Given the description of an element on the screen output the (x, y) to click on. 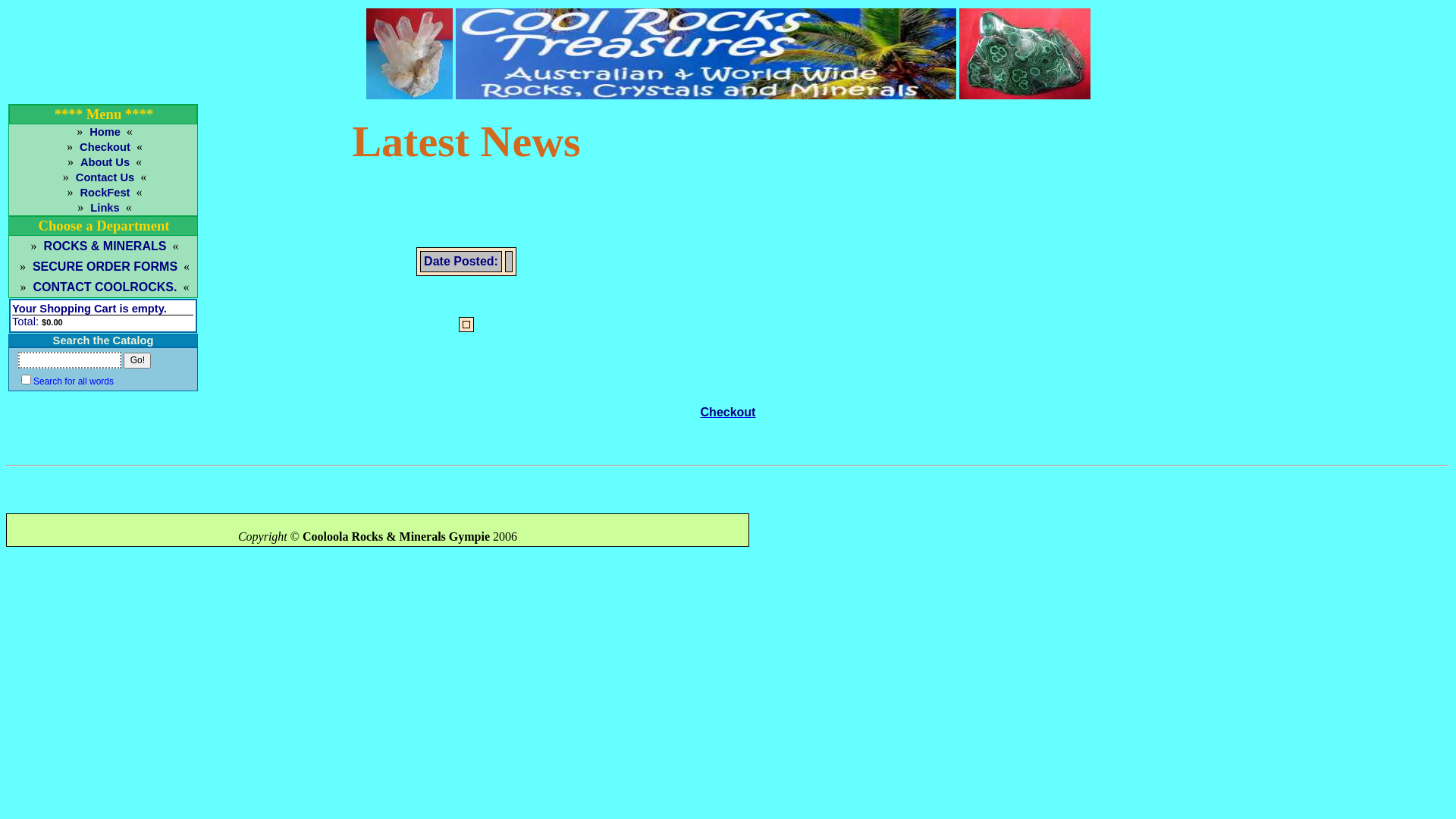
CONTACT COOLROCKS. Element type: text (103, 286)
About Us Element type: text (102, 162)
Home Element type: text (102, 131)
Contact Us Element type: text (103, 177)
Checkout Element type: text (728, 411)
ROCKS & MINERALS Element type: text (103, 245)
Checkout Element type: text (102, 147)
Go! Element type: text (136, 359)
SECURE ORDER FORMS Element type: text (102, 266)
Links Element type: text (102, 207)
RockFest Element type: text (102, 192)
